Given the description of an element on the screen output the (x, y) to click on. 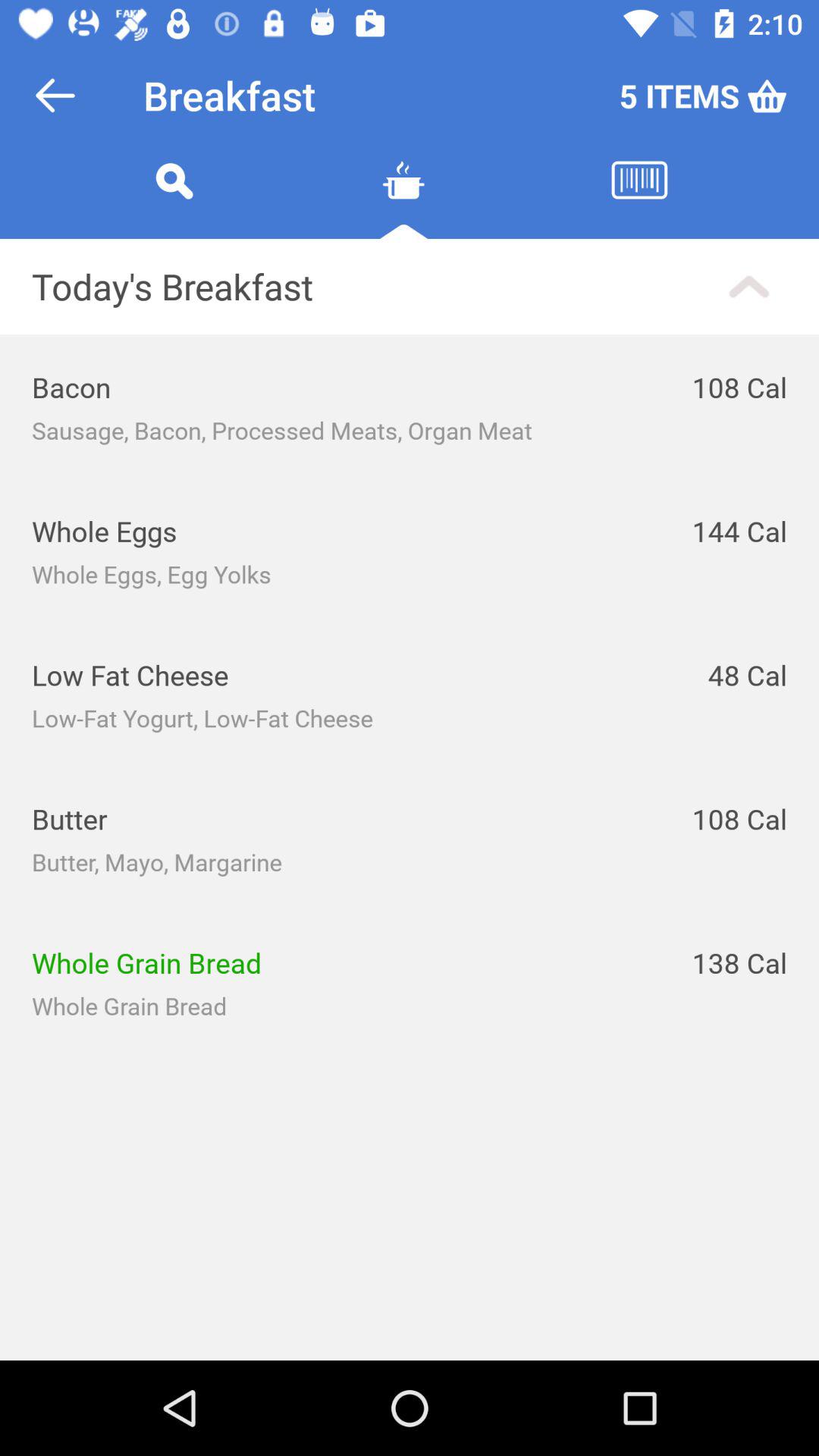
go to search (173, 198)
